Given the description of an element on the screen output the (x, y) to click on. 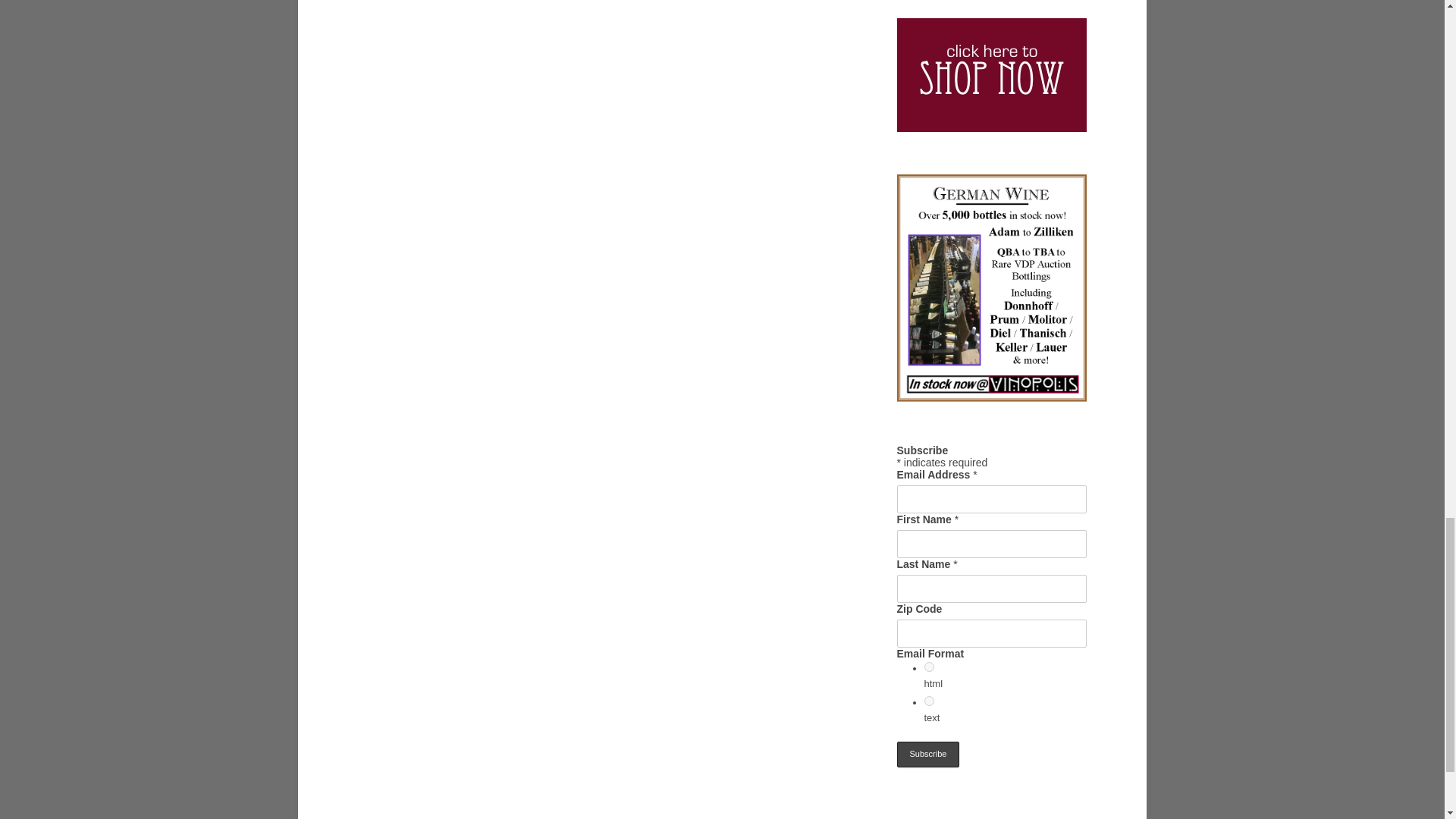
text (928, 700)
html (928, 666)
Subscribe (927, 754)
Subscribe (927, 754)
